Given the description of an element on the screen output the (x, y) to click on. 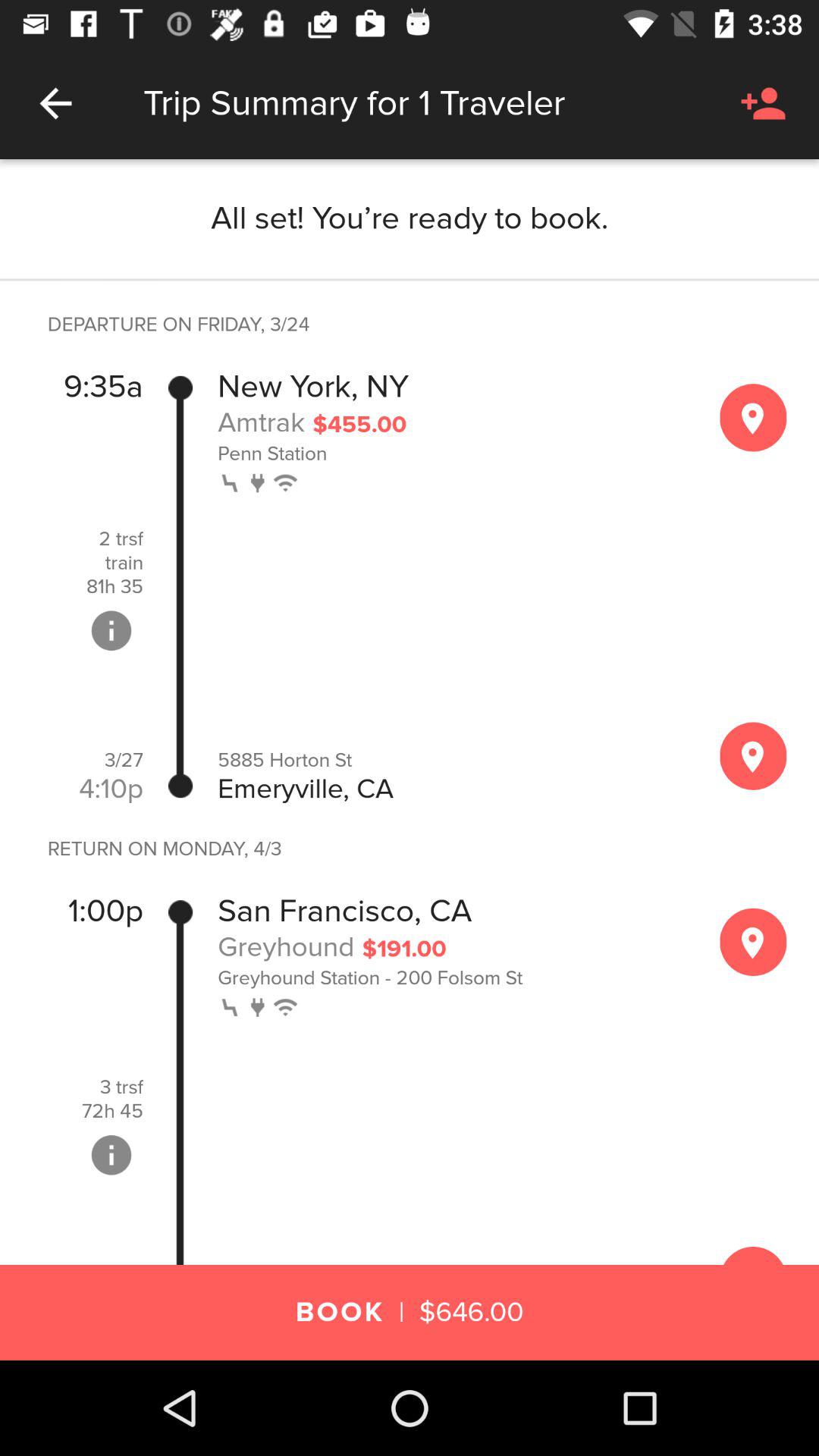
open the san francisco, ca icon (344, 911)
